Given the description of an element on the screen output the (x, y) to click on. 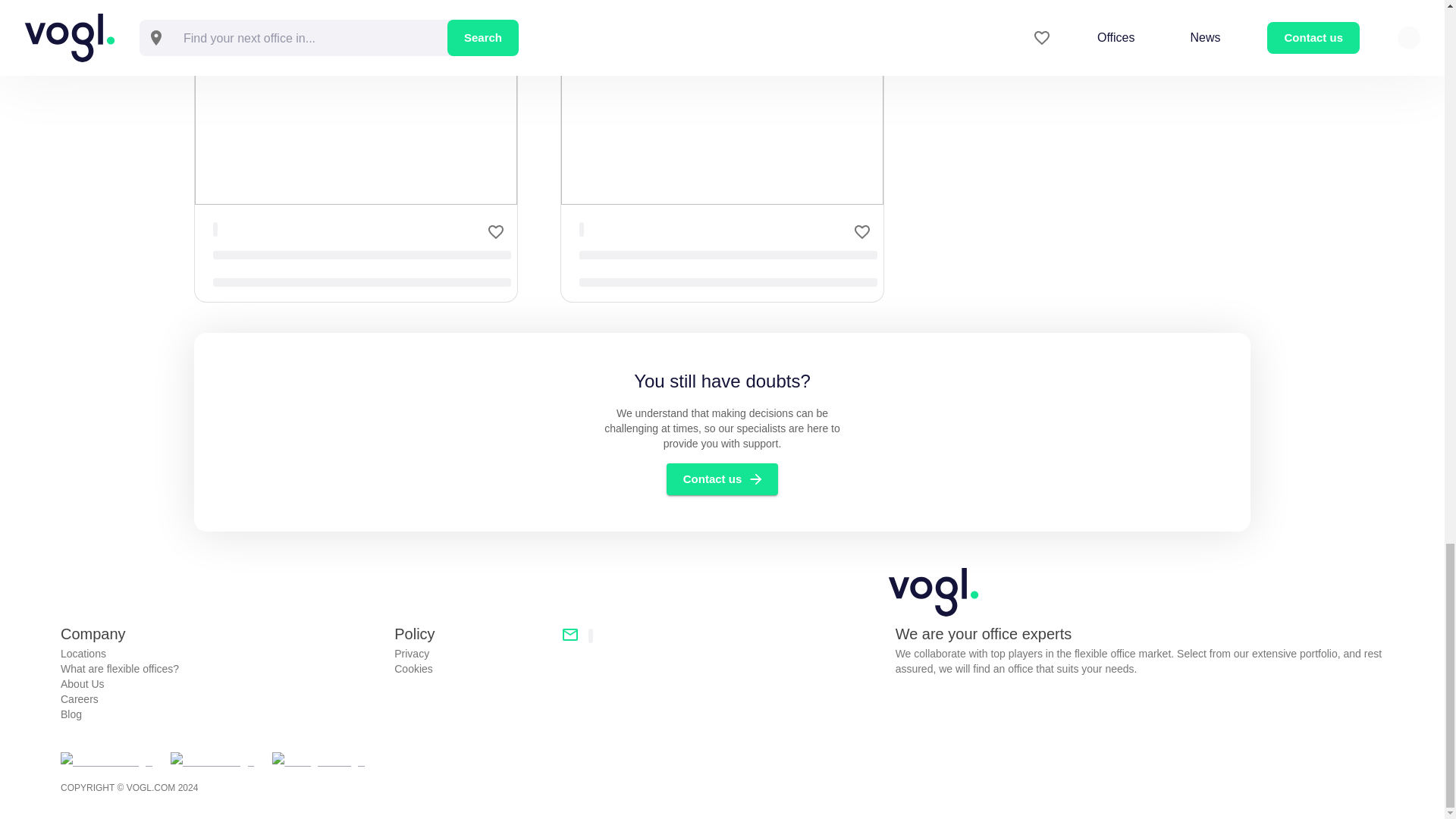
Blog (221, 713)
Privacy (471, 653)
About Us (221, 683)
Locations (221, 653)
What are flexible offices? (221, 668)
Careers (221, 698)
Contact us (722, 479)
Cookies (471, 668)
